Given the description of an element on the screen output the (x, y) to click on. 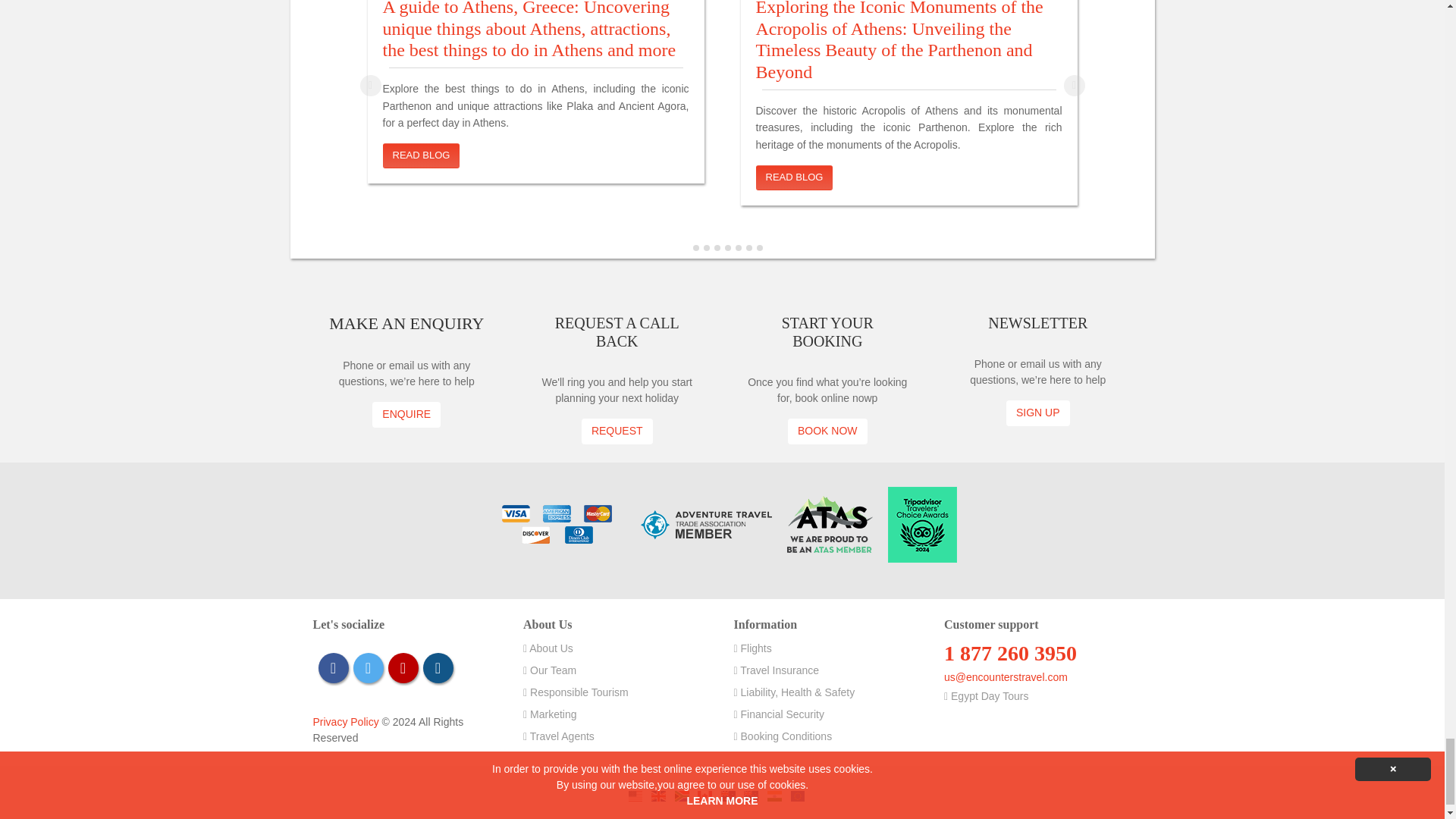
Read Blog (420, 155)
Make an enquiry (406, 414)
Read Blog (793, 177)
